Given the description of an element on the screen output the (x, y) to click on. 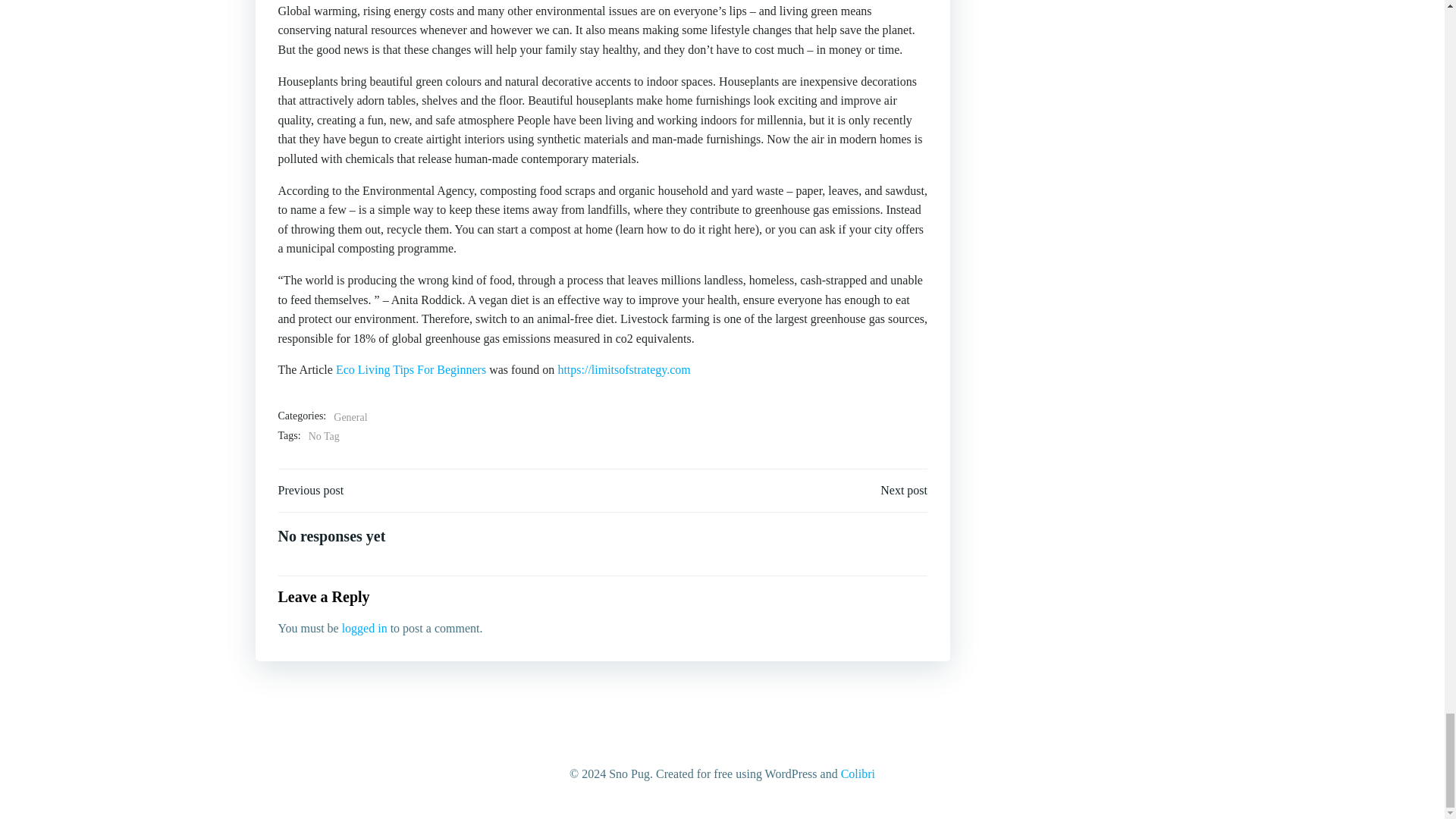
Previous post (310, 490)
Eco Living Tips For Beginners (411, 369)
logged in (364, 627)
Next post (903, 490)
General (349, 417)
